Given the description of an element on the screen output the (x, y) to click on. 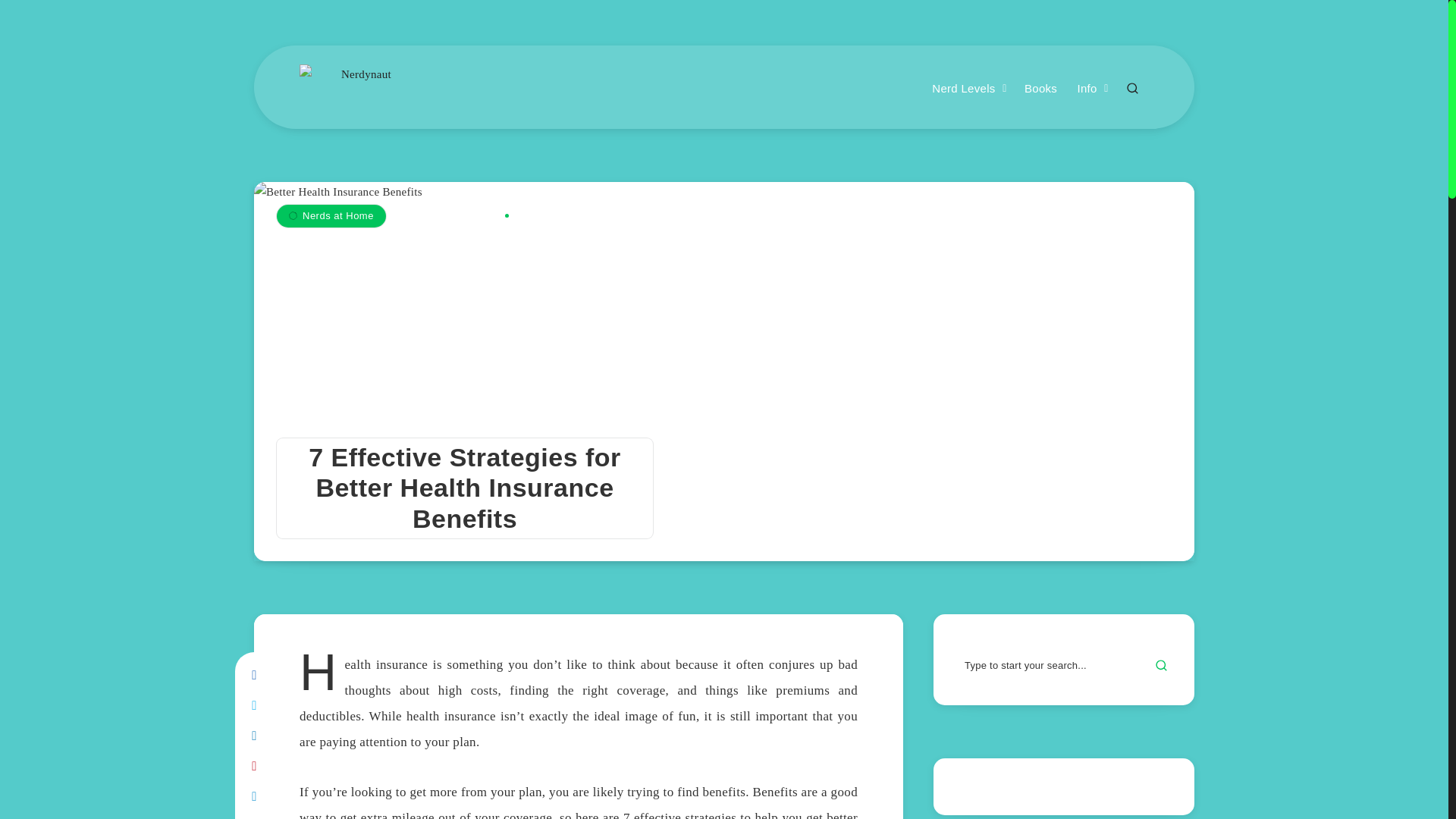
Info (1086, 88)
Nerd Levels (962, 88)
Books (1041, 88)
